Given the description of an element on the screen output the (x, y) to click on. 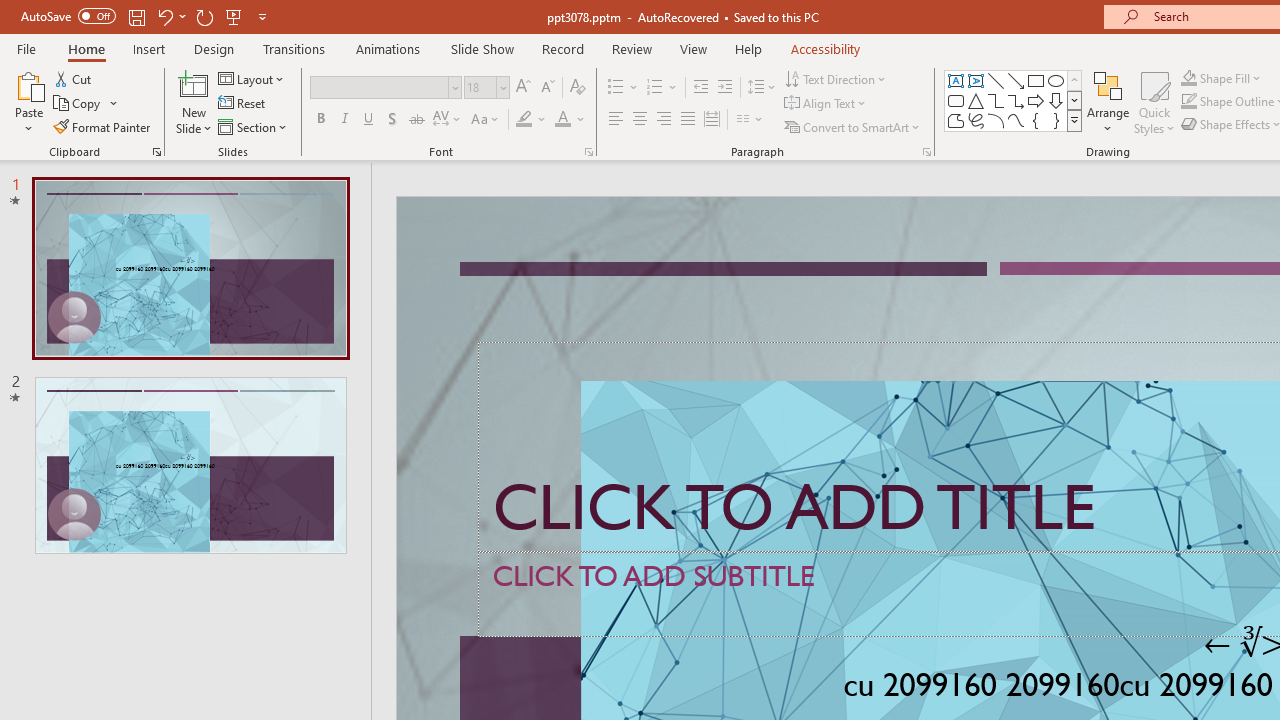
New Slide (193, 102)
Font Size (486, 87)
Text Direction (836, 78)
Strikethrough (416, 119)
Right Brace (1055, 120)
Line Spacing (762, 87)
Slide (190, 465)
Arc (995, 120)
Shape Fill Dark Green, Accent 2 (1188, 78)
Left Brace (1035, 120)
Font Size (480, 87)
Increase Font Size (522, 87)
Row up (1074, 79)
Reset (243, 103)
Paste (28, 102)
